Given the description of an element on the screen output the (x, y) to click on. 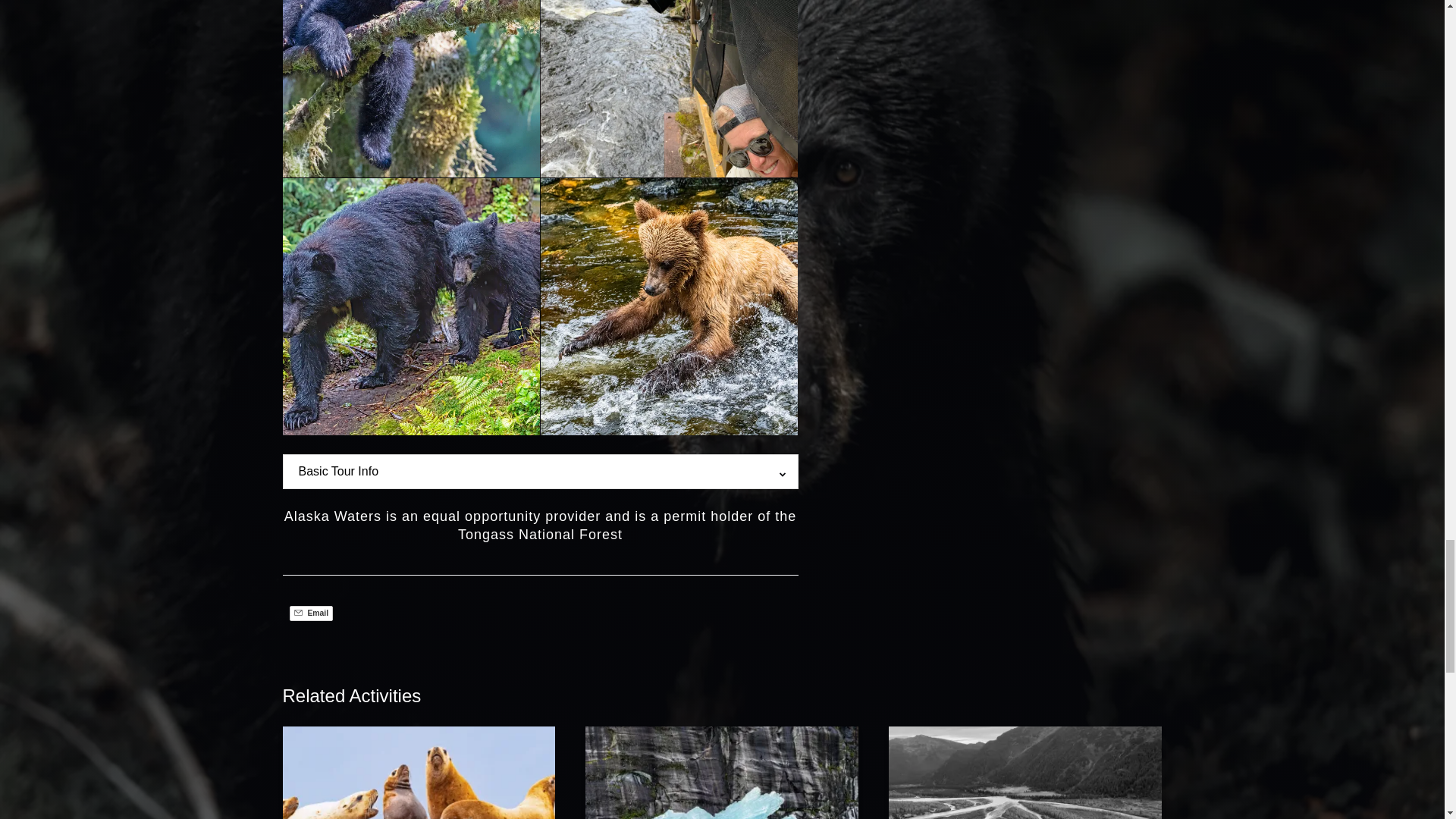
Email (311, 613)
Basic Tour Info (338, 471)
